Given the description of an element on the screen output the (x, y) to click on. 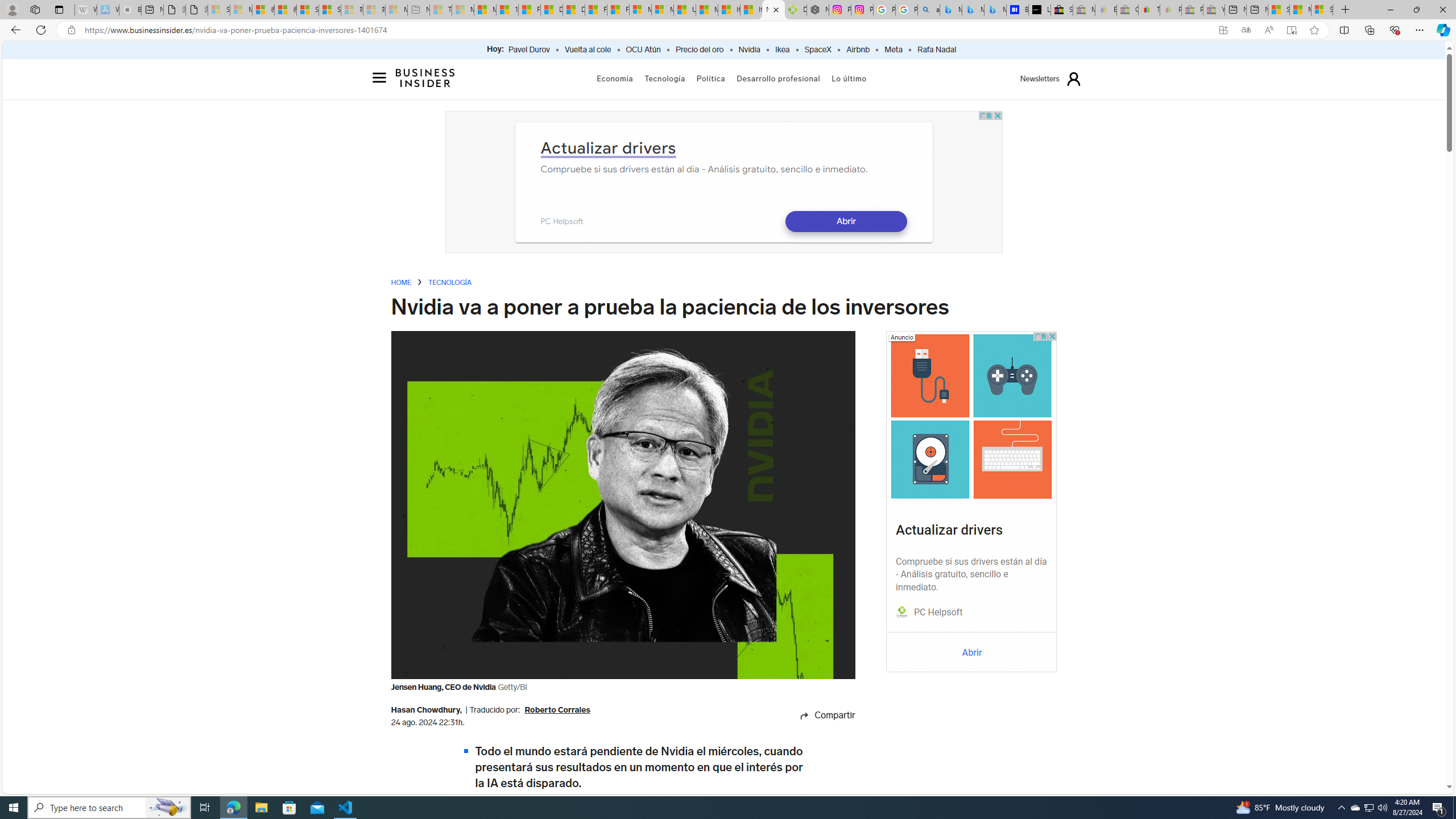
To get missing image descriptions, open the context menu. (901, 612)
Nordace - Nordace Edin Collection (818, 9)
Payments Terms of Use | eBay.com - Sleeping (1170, 9)
Descarga Driver Updater (795, 9)
alabama high school quarterback dies - Search (928, 9)
SpaceX (817, 49)
To get missing image descriptions, open the context menu. (901, 613)
Ikea (782, 49)
Precio del oro (699, 49)
Nvidia (748, 49)
